Given the description of an element on the screen output the (x, y) to click on. 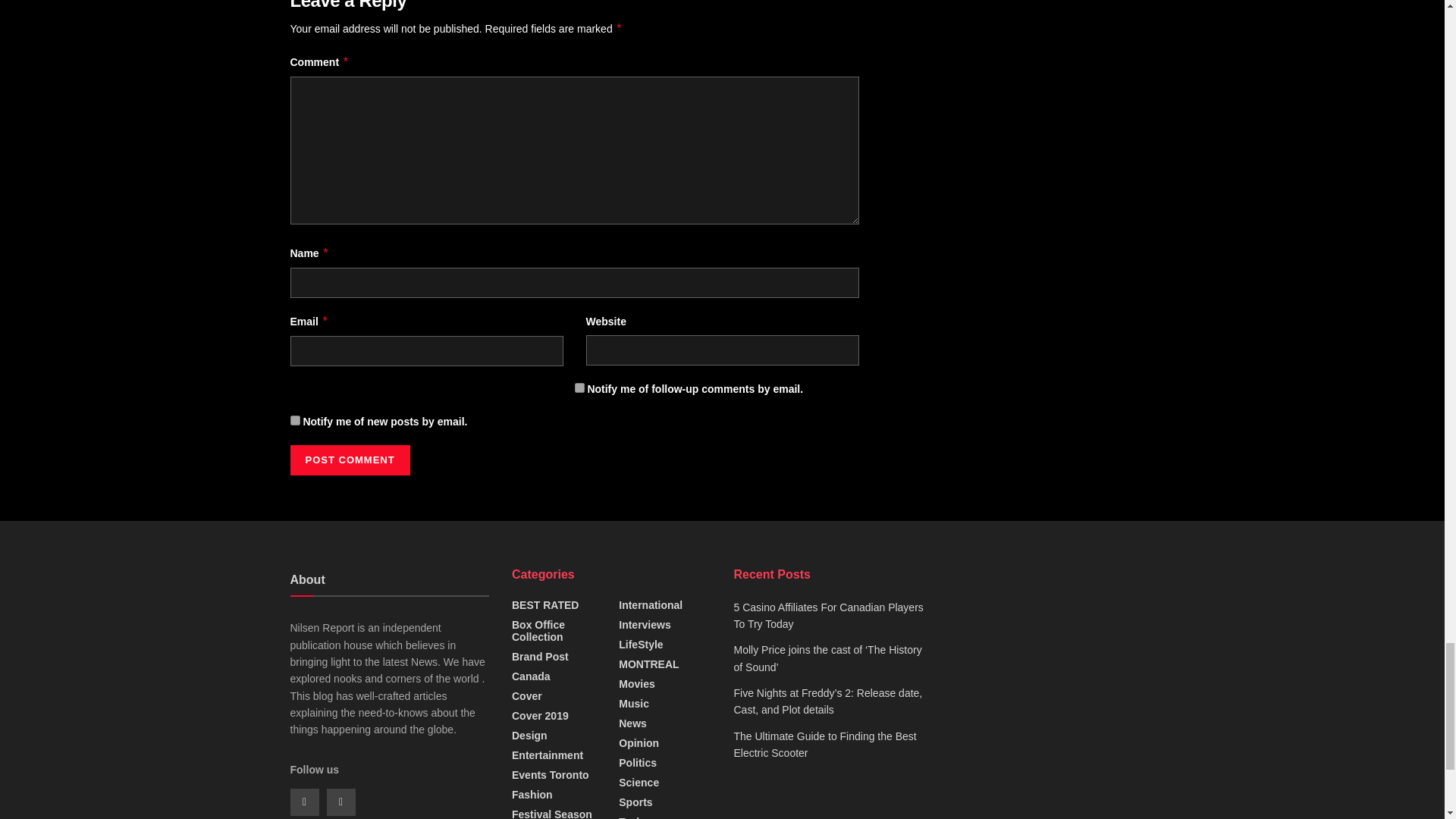
subscribe (580, 388)
Post Comment (349, 460)
subscribe (294, 420)
